Given the description of an element on the screen output the (x, y) to click on. 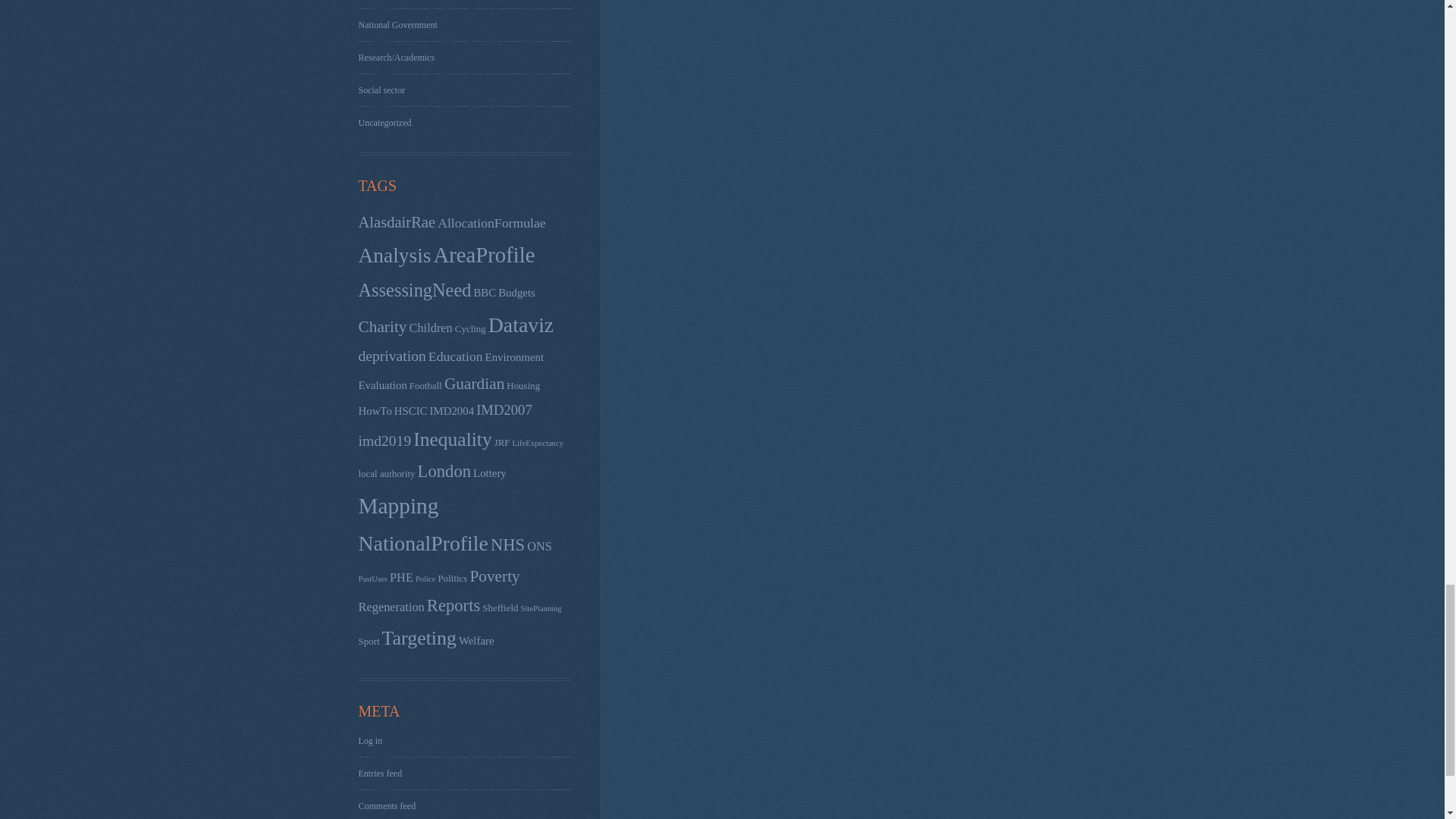
AllocationFormulae (492, 222)
AlasdairRae (396, 221)
Uncategorized (384, 122)
Social sector (381, 90)
National Government (397, 24)
